Given the description of an element on the screen output the (x, y) to click on. 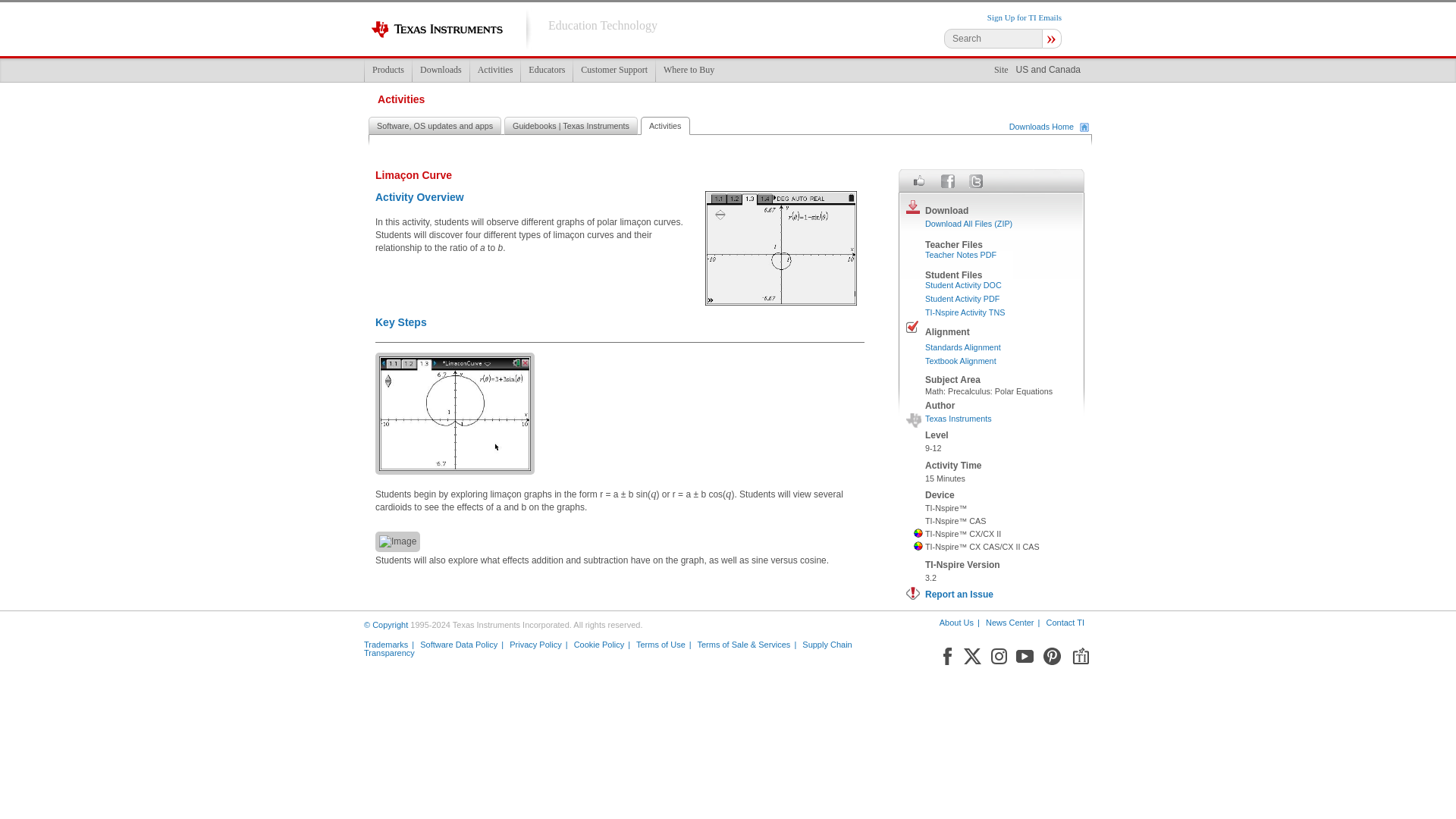
Twitter (972, 732)
Instagram (998, 732)
Downloads (440, 69)
Twitter (975, 180)
Activities (494, 69)
YouTube (1025, 732)
Sign Up for TI Emails (1024, 17)
Products (388, 69)
Recommend Activity (919, 180)
Facebook (947, 180)
